Given the description of an element on the screen output the (x, y) to click on. 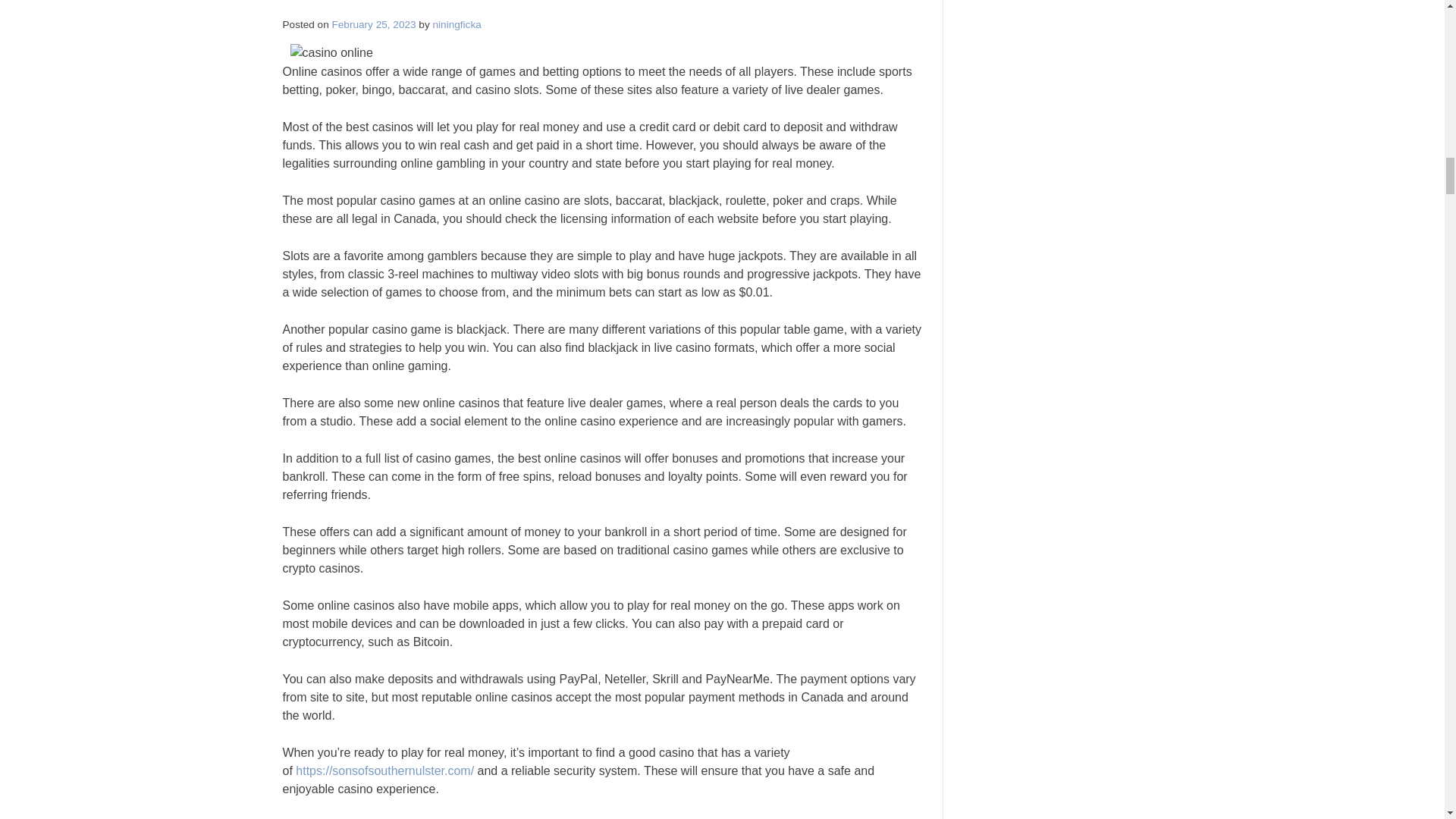
niningficka (456, 24)
February 25, 2023 (373, 24)
